Given the description of an element on the screen output the (x, y) to click on. 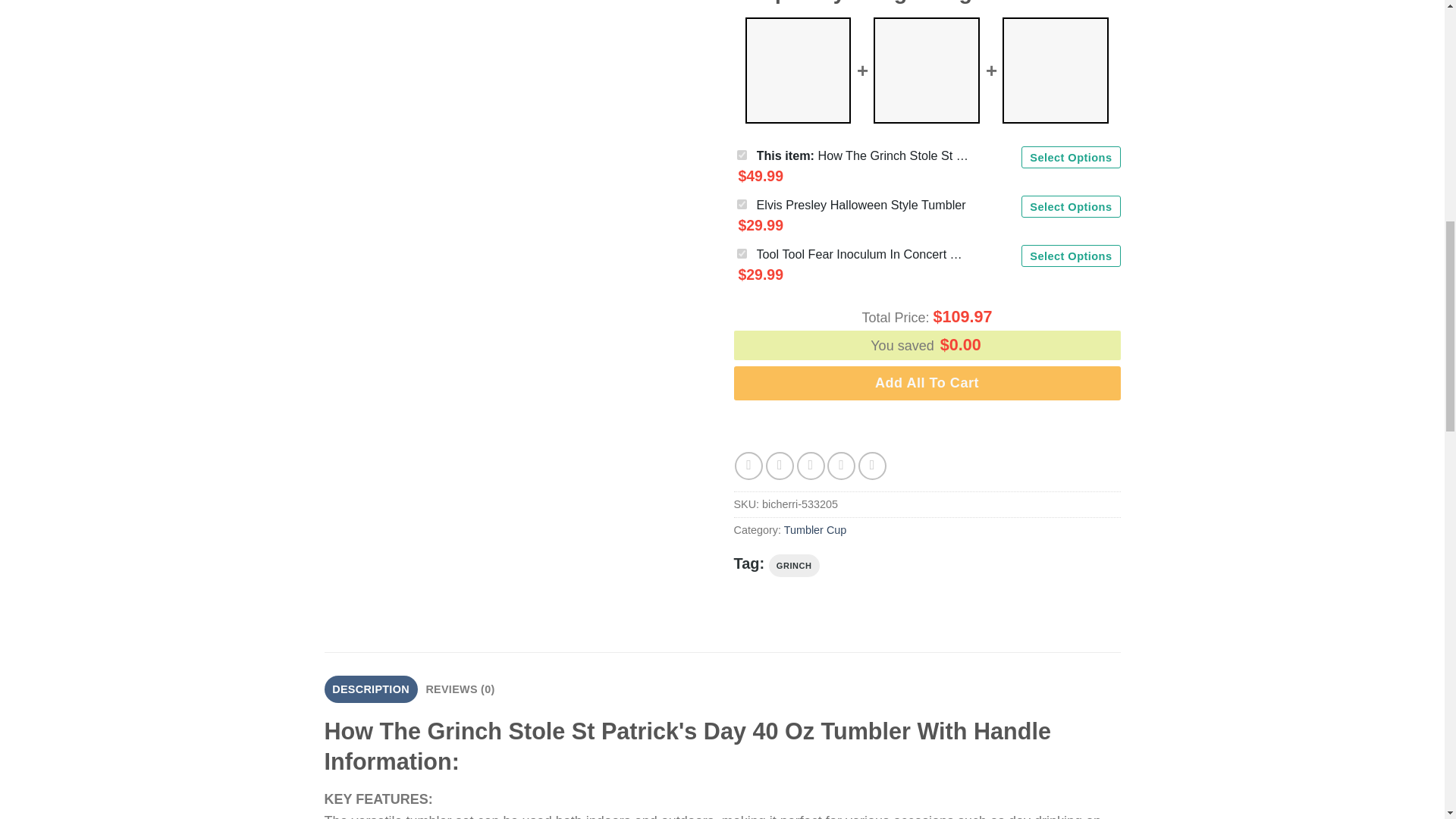
Elvis Presley Halloween Style Tumbler (861, 204)
520106 (741, 253)
Select Options (1070, 157)
533205 (741, 154)
Email to a Friend (810, 465)
Share on Twitter (779, 465)
Share on Facebook (748, 465)
519983 (741, 204)
Select Options (1070, 255)
Select Options (1070, 206)
Add All To Cart (927, 382)
Tool Tool Fear Inoculum In Concert Tumbler (863, 253)
